Given the description of an element on the screen output the (x, y) to click on. 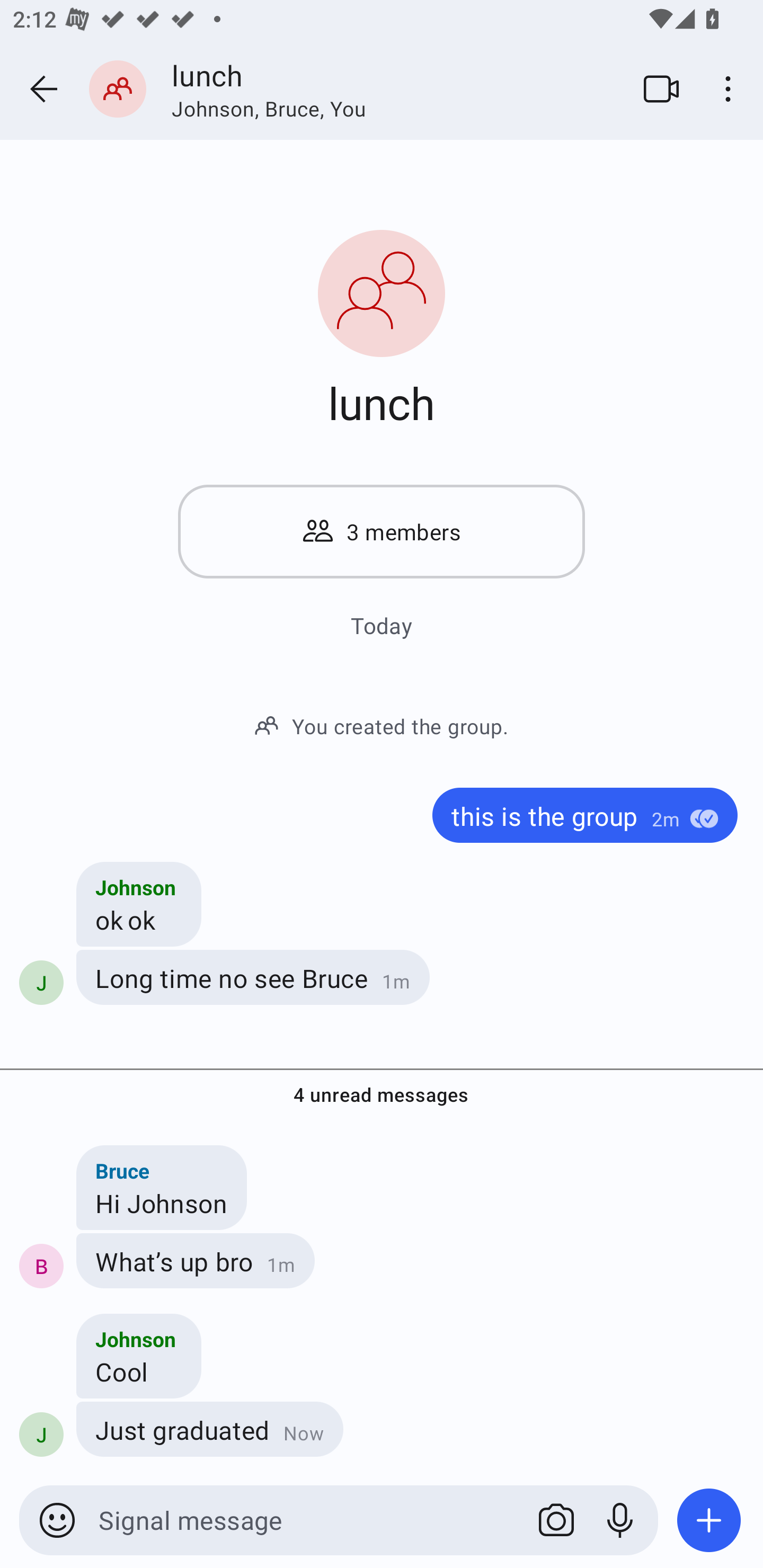
Add attachment (708, 1520)
